Given the description of an element on the screen output the (x, y) to click on. 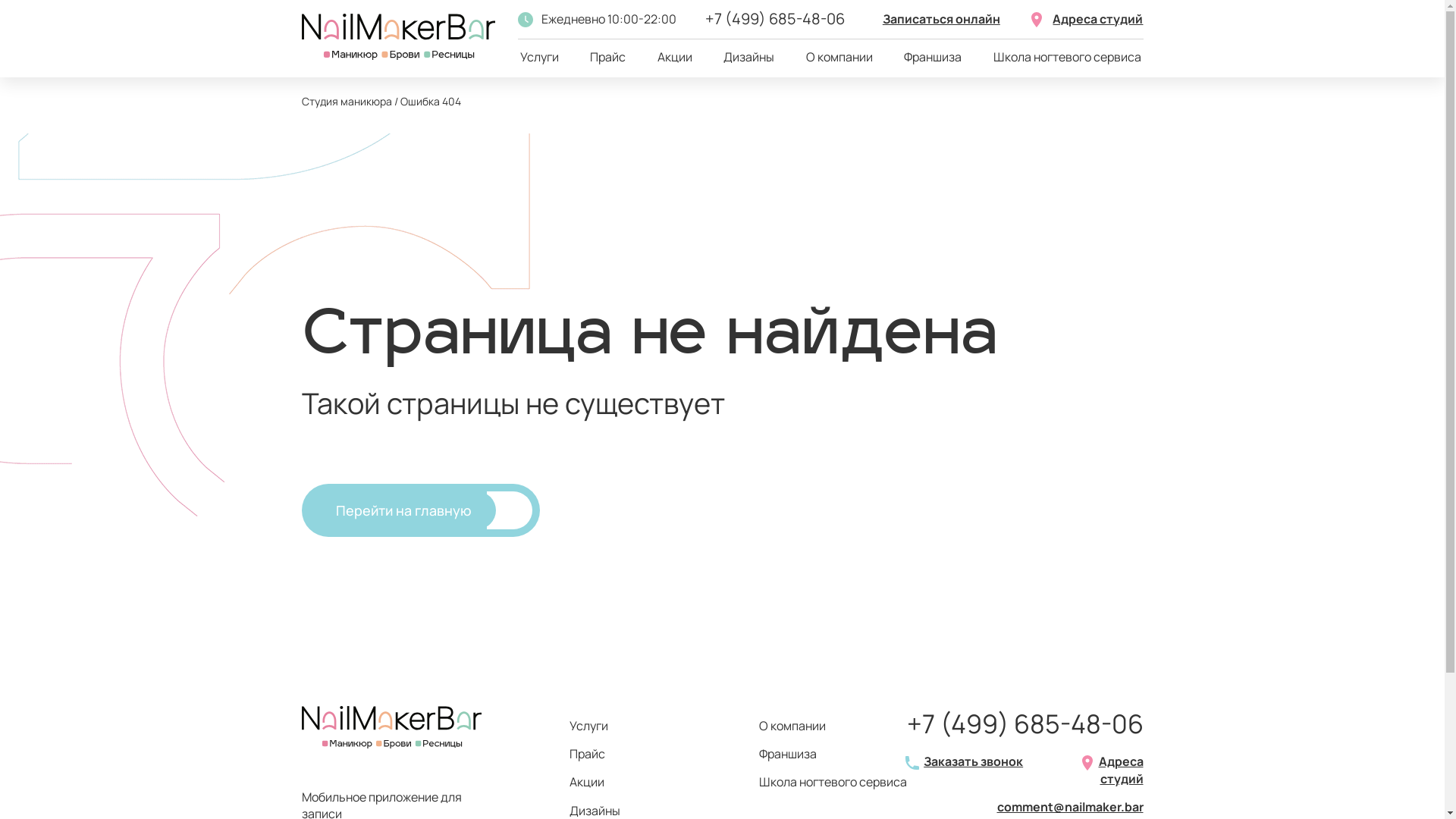
comment@nailmaker.bar Element type: text (1069, 806)
+7 (499) 685-48-06 Element type: text (774, 18)
+7 (499) 685-48-06 Element type: text (1024, 724)
